Given the description of an element on the screen output the (x, y) to click on. 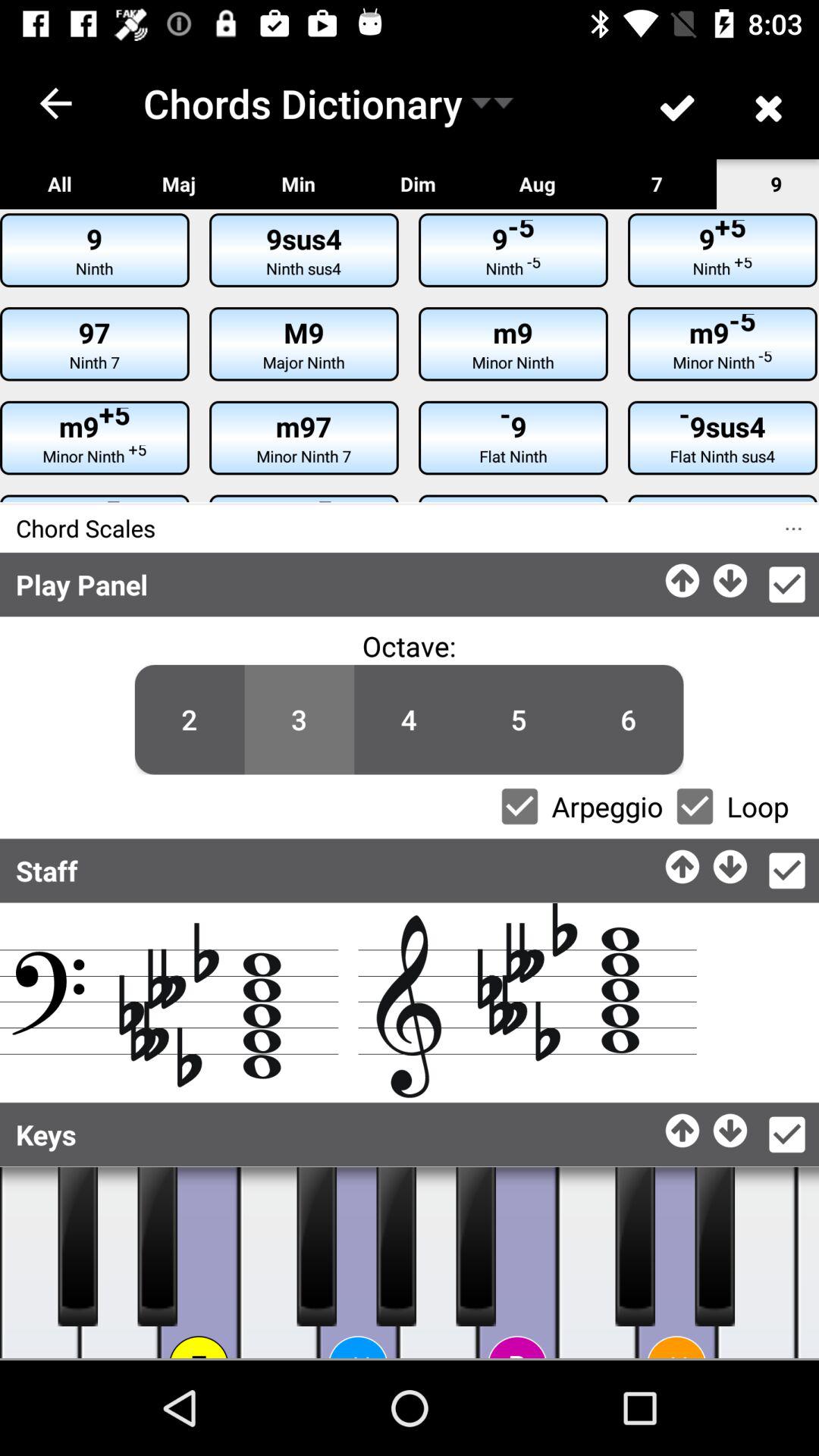
go play (119, 1262)
